Given the description of an element on the screen output the (x, y) to click on. 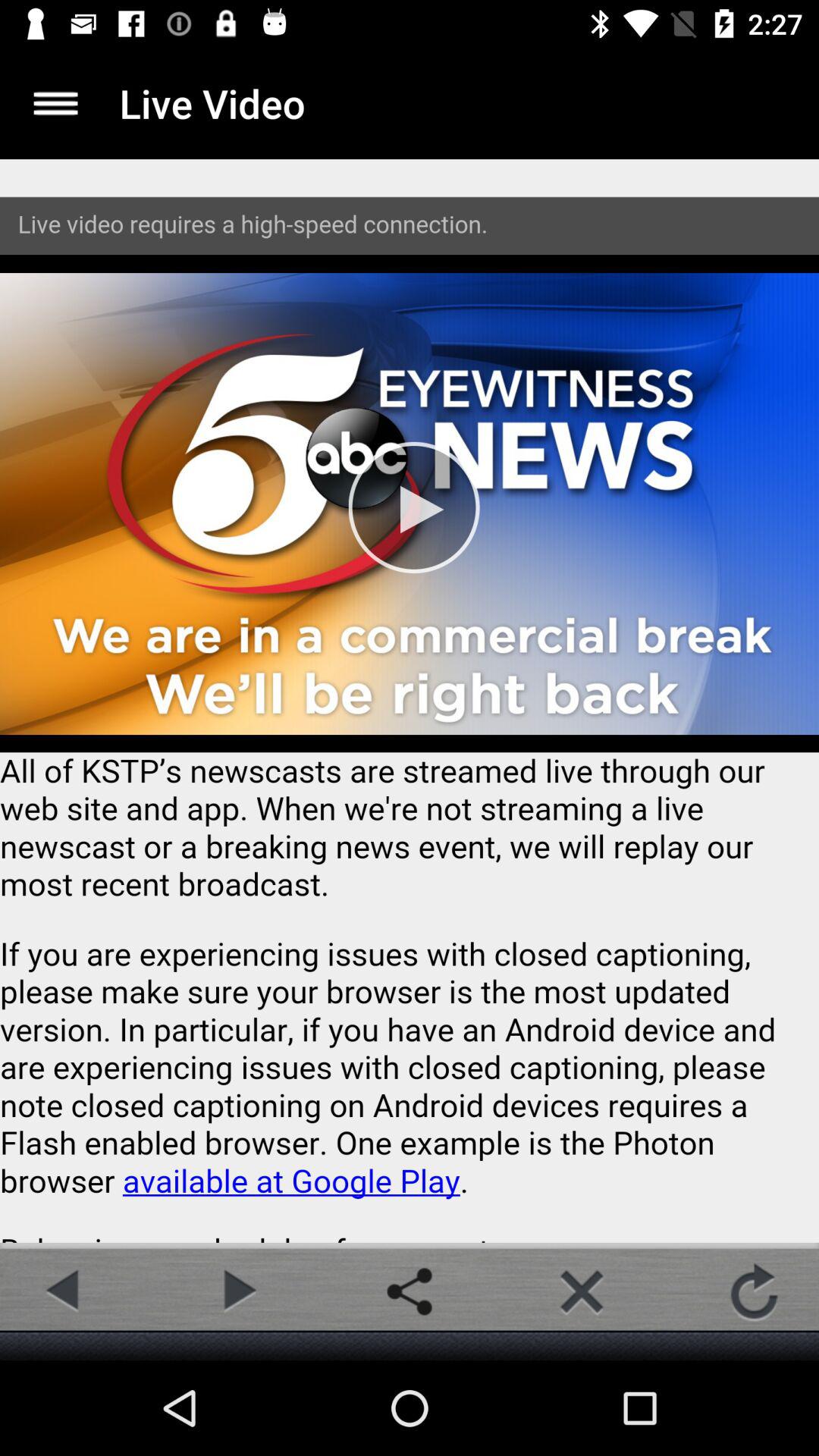
reload option (754, 1291)
